Given the description of an element on the screen output the (x, y) to click on. 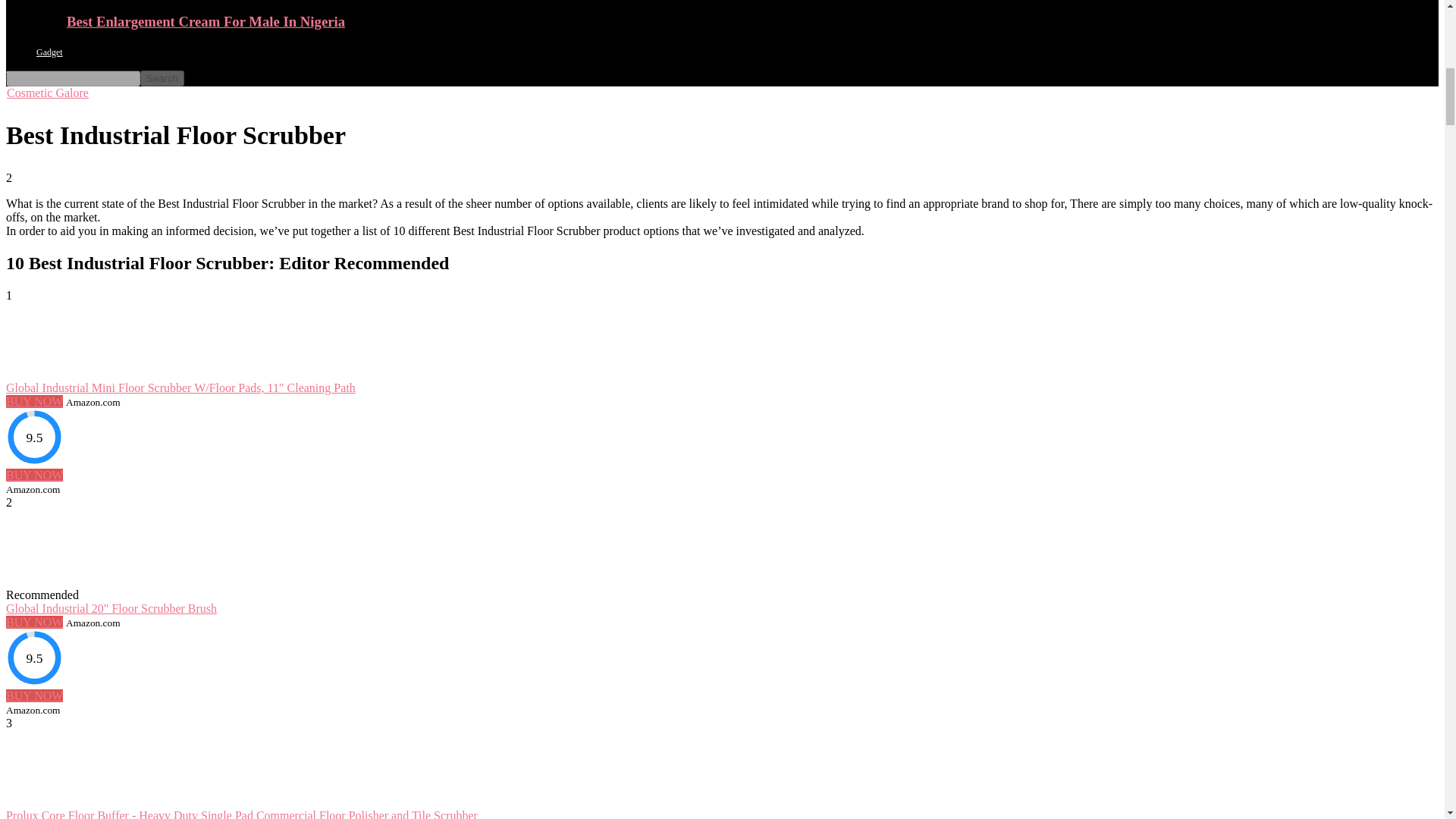
9.5 (33, 657)
Best Enlargement Cream For Male In Nigeria (205, 21)
Search (161, 78)
9.5 (33, 437)
Cosmetic Galore (46, 92)
Search (161, 78)
Best Enlargement Cream For Male In Nigeria (205, 21)
Gadget (49, 51)
